Given the description of an element on the screen output the (x, y) to click on. 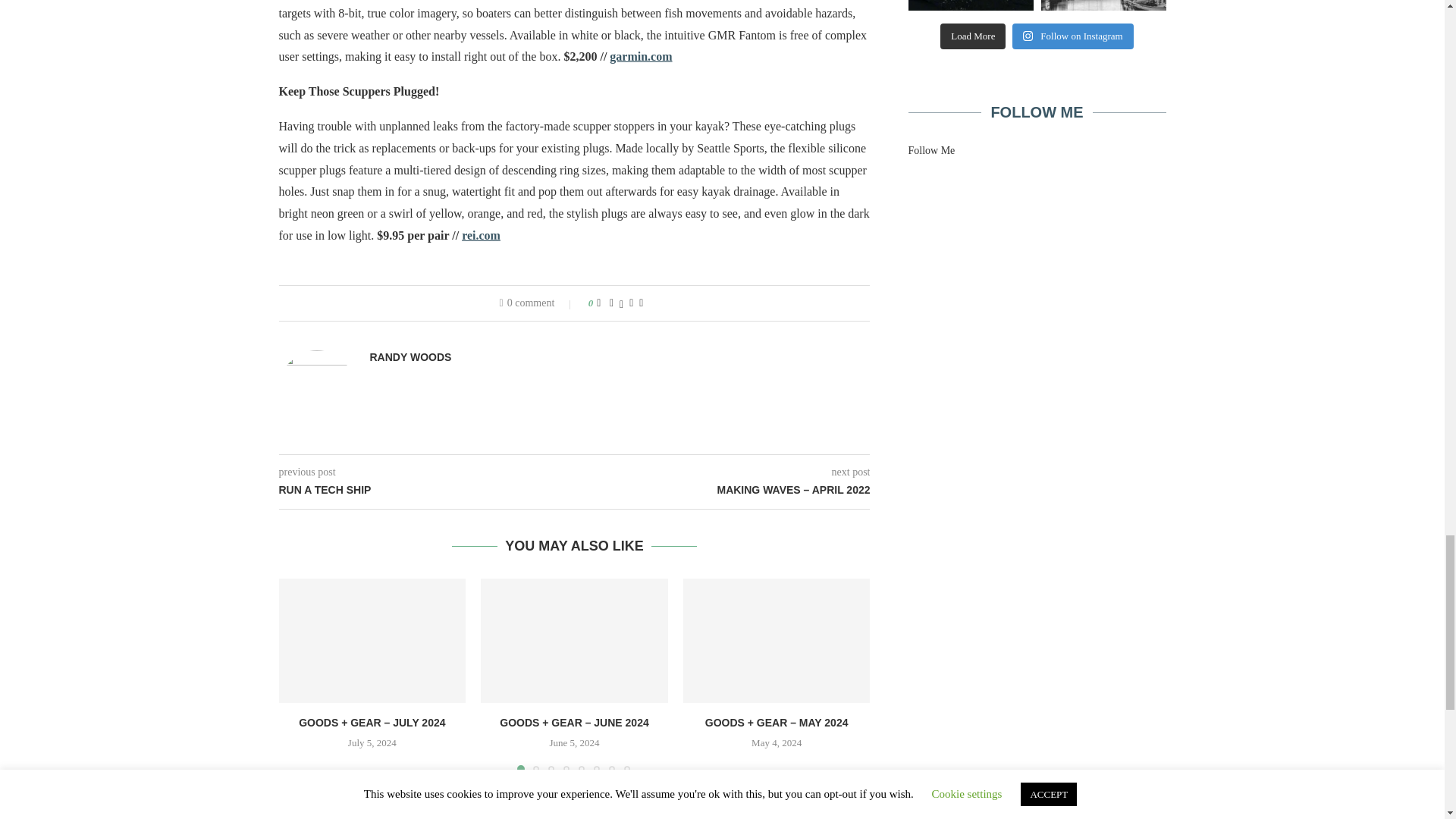
Author Randy Woods (410, 357)
